Given the description of an element on the screen output the (x, y) to click on. 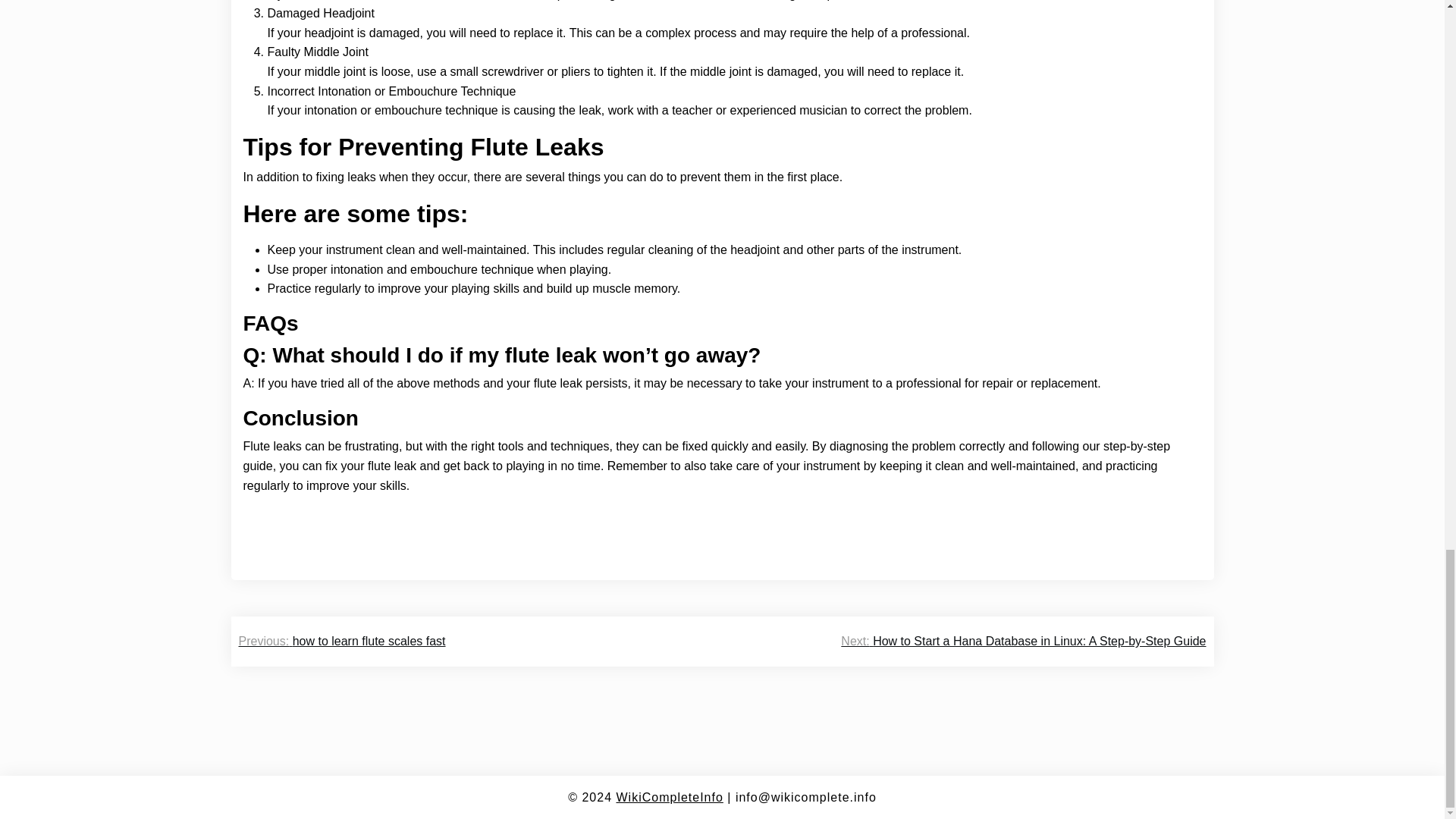
WikiCompleteInfo (668, 797)
Previous: how to learn flute scales fast (341, 641)
